Given the description of an element on the screen output the (x, y) to click on. 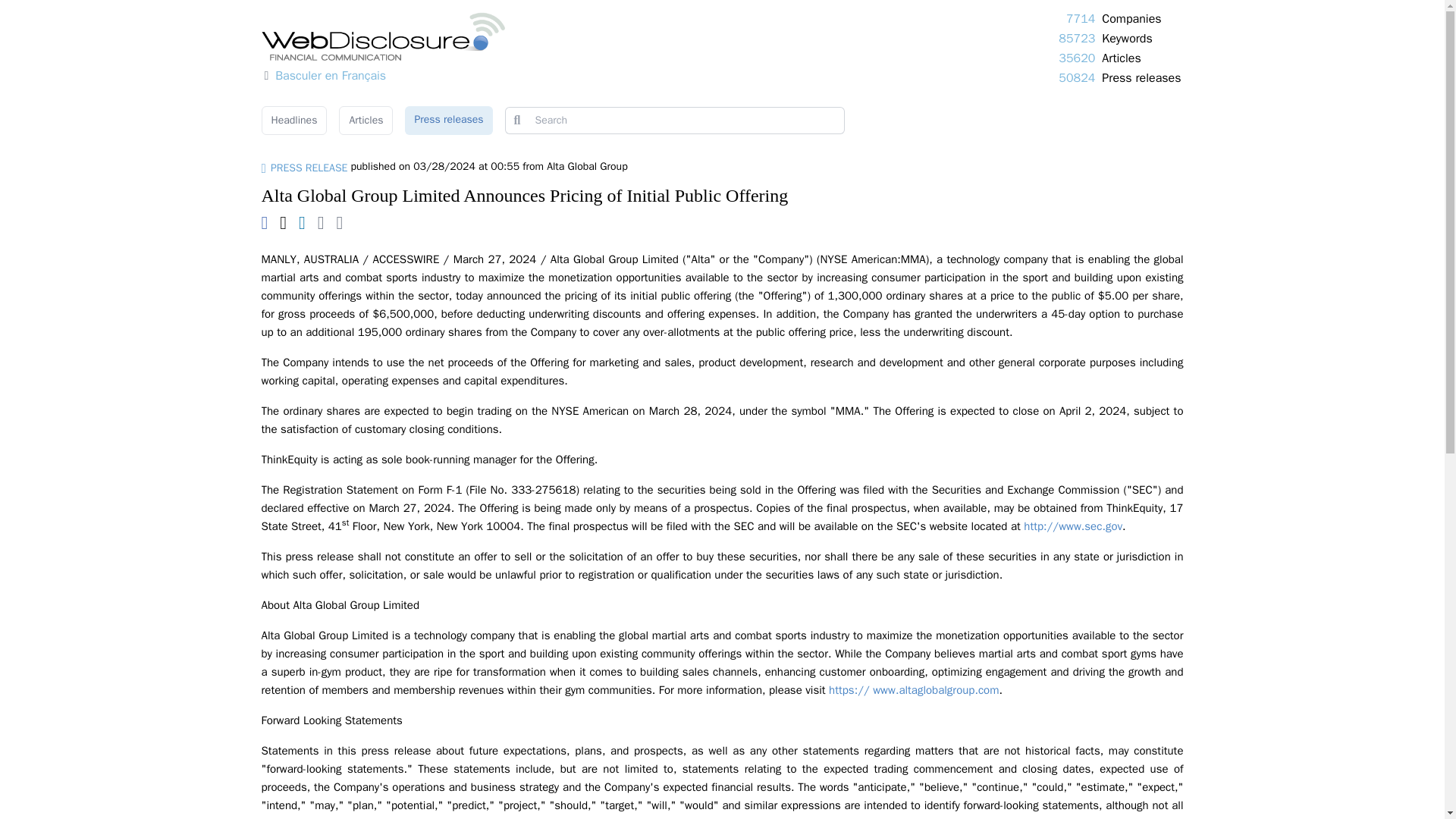
Articles (366, 120)
Companies (1131, 18)
85723 (1076, 38)
Keywords (1126, 38)
PRESS RELEASE (303, 167)
Press releases (448, 120)
50824 (1076, 77)
Articles (1121, 58)
Press releases (1141, 77)
7714 (1079, 18)
Headlines (293, 120)
35620 (1076, 58)
